Given the description of an element on the screen output the (x, y) to click on. 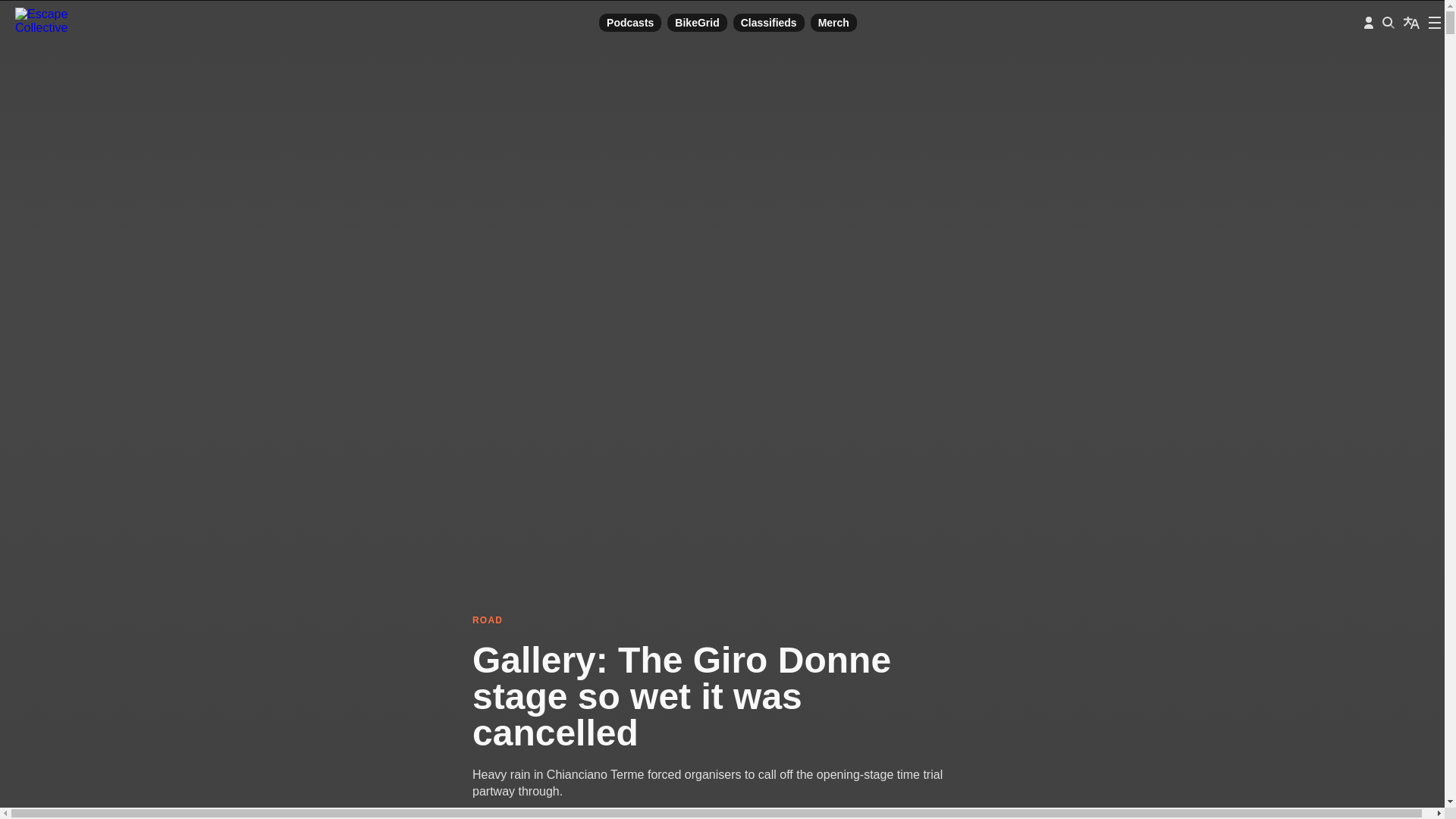
Classifieds (769, 22)
ROAD (713, 621)
Podcasts (629, 22)
BikeGrid (696, 22)
Merch (833, 22)
